Given the description of an element on the screen output the (x, y) to click on. 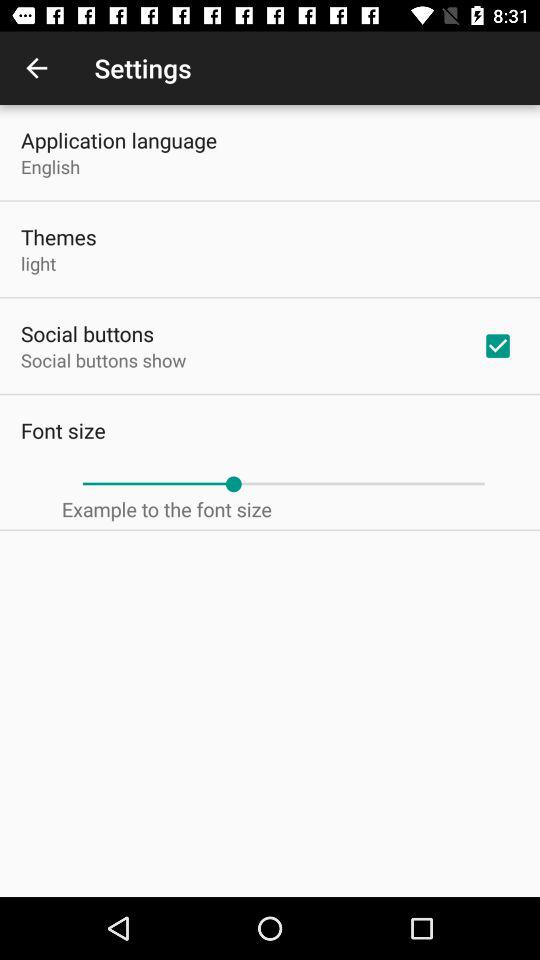
scroll until the example to the icon (166, 509)
